Given the description of an element on the screen output the (x, y) to click on. 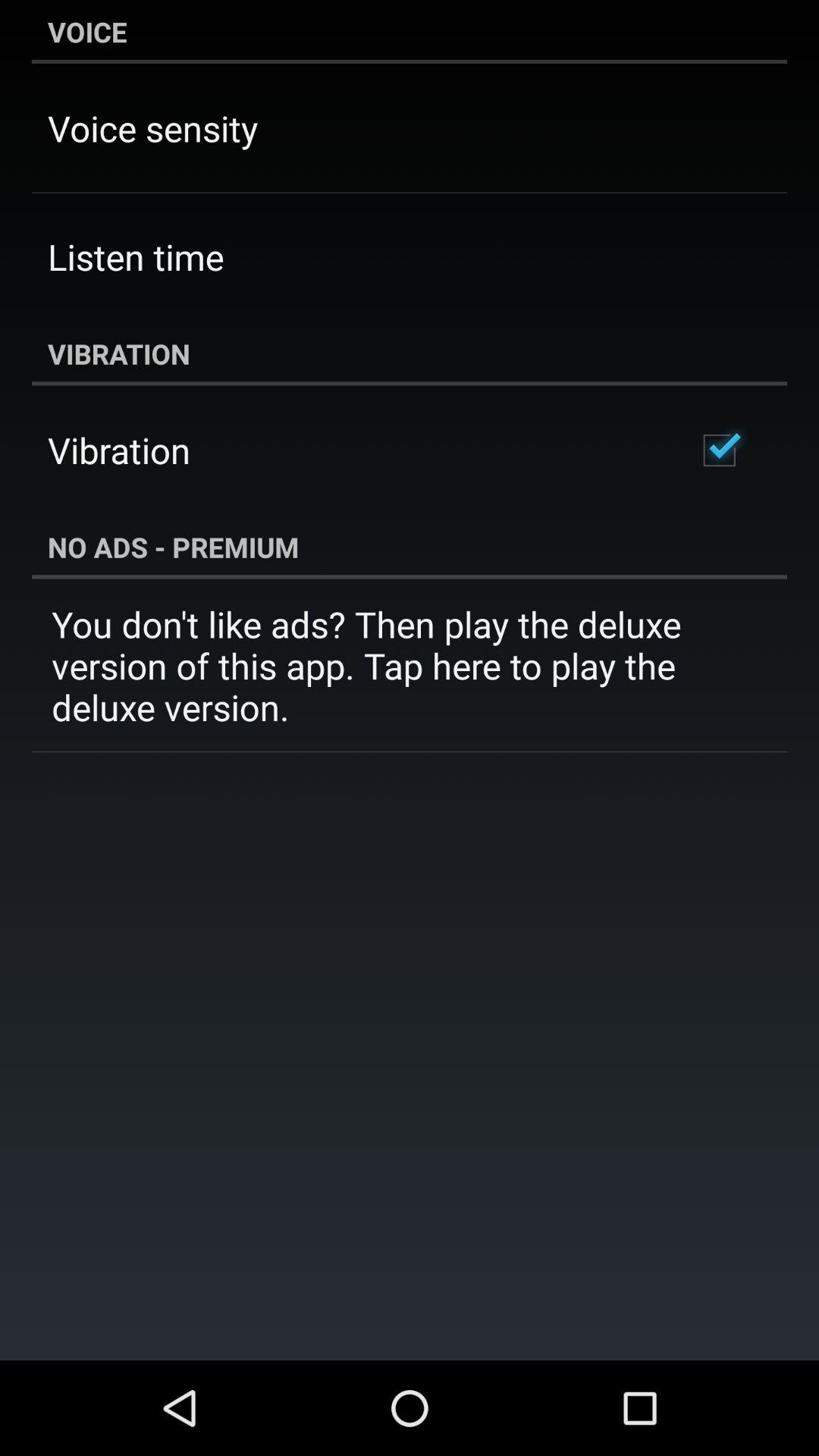
launch item to the right of the vibration item (719, 450)
